Given the description of an element on the screen output the (x, y) to click on. 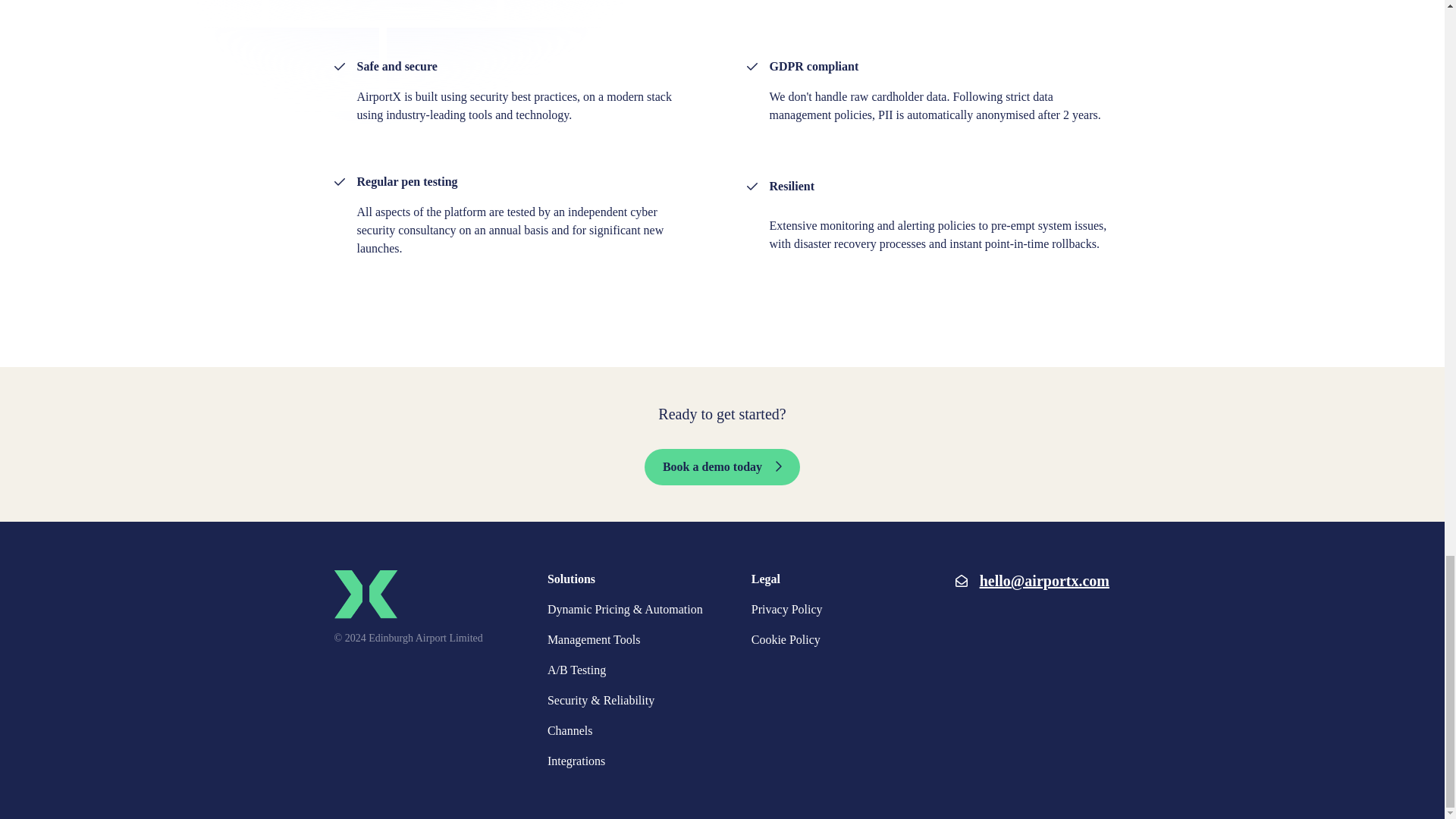
Channels (569, 730)
Cookie Policy (786, 639)
Privacy Policy (786, 609)
Management Tools (593, 639)
Book a demo today (722, 466)
Integrations (576, 761)
